Given the description of an element on the screen output the (x, y) to click on. 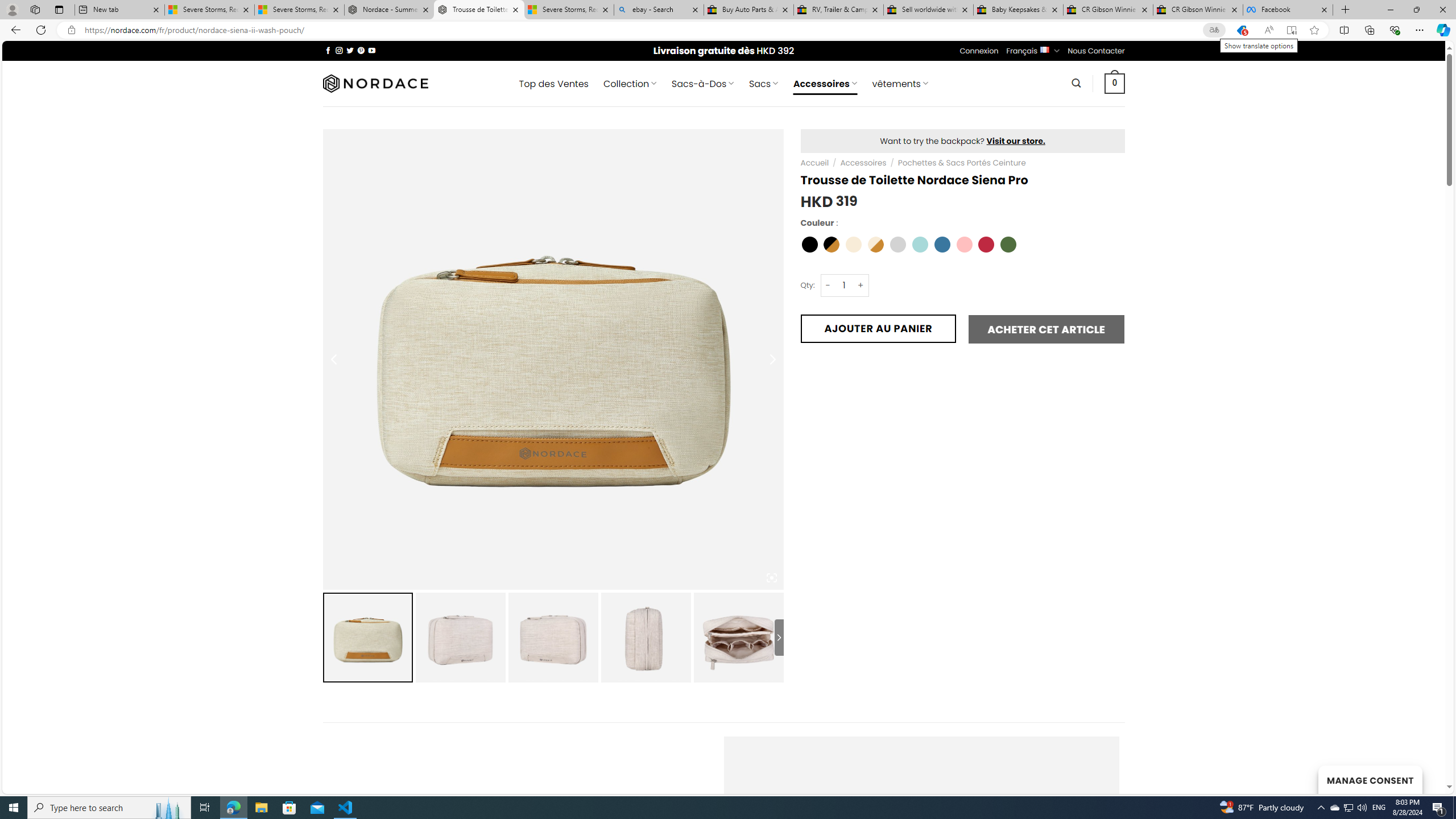
You have the best price! (1241, 29)
ebay - Search (658, 9)
Facebook (1287, 9)
Trousse de Toilette Nordace Siena Pro (478, 9)
AJOUTER AU PANIER (878, 328)
RV, Trailer & Camper Steps & Ladders for sale | eBay (838, 9)
